Given the description of an element on the screen output the (x, y) to click on. 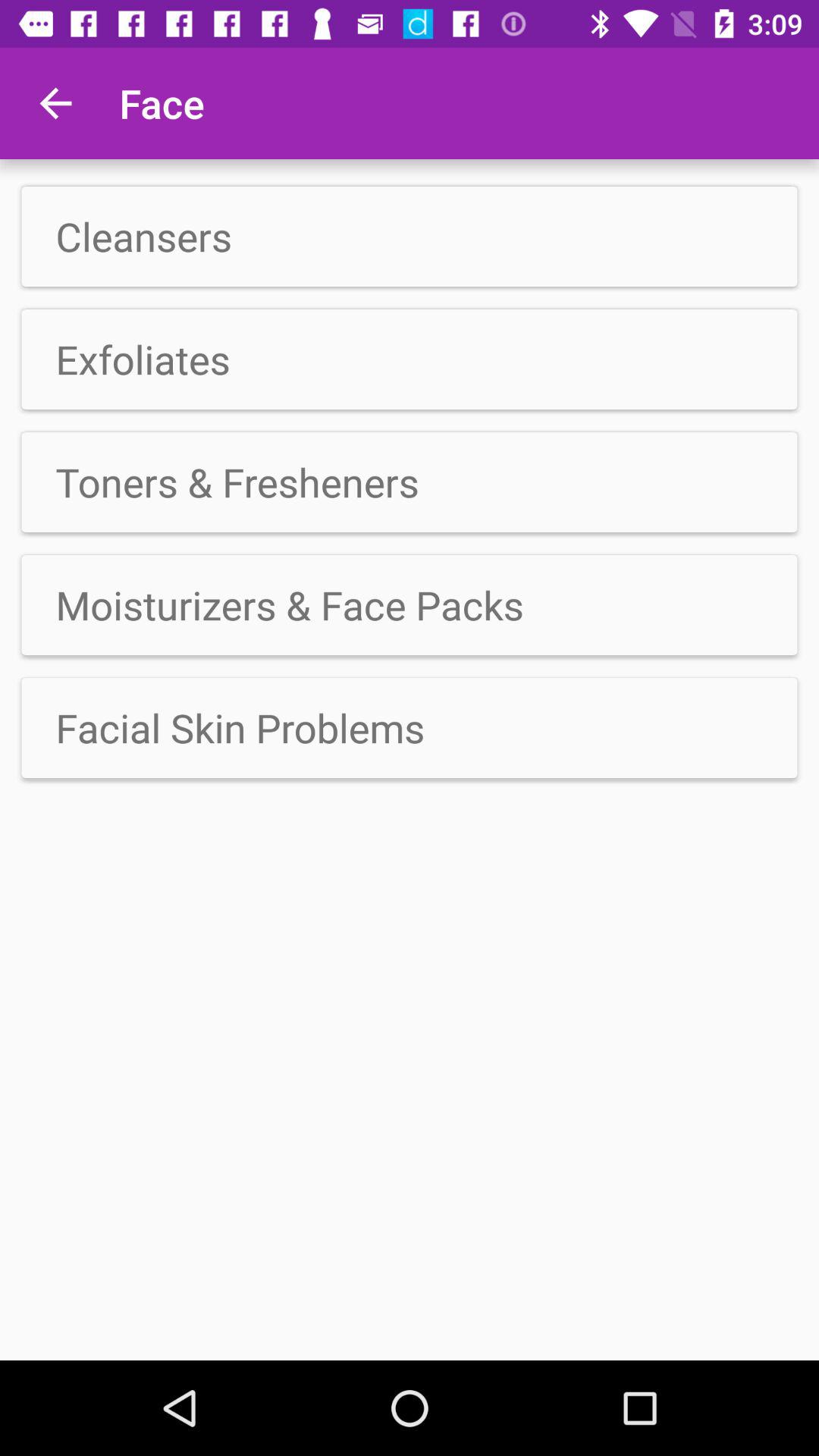
choose the app below moisturizers & face packs icon (409, 727)
